Given the description of an element on the screen output the (x, y) to click on. 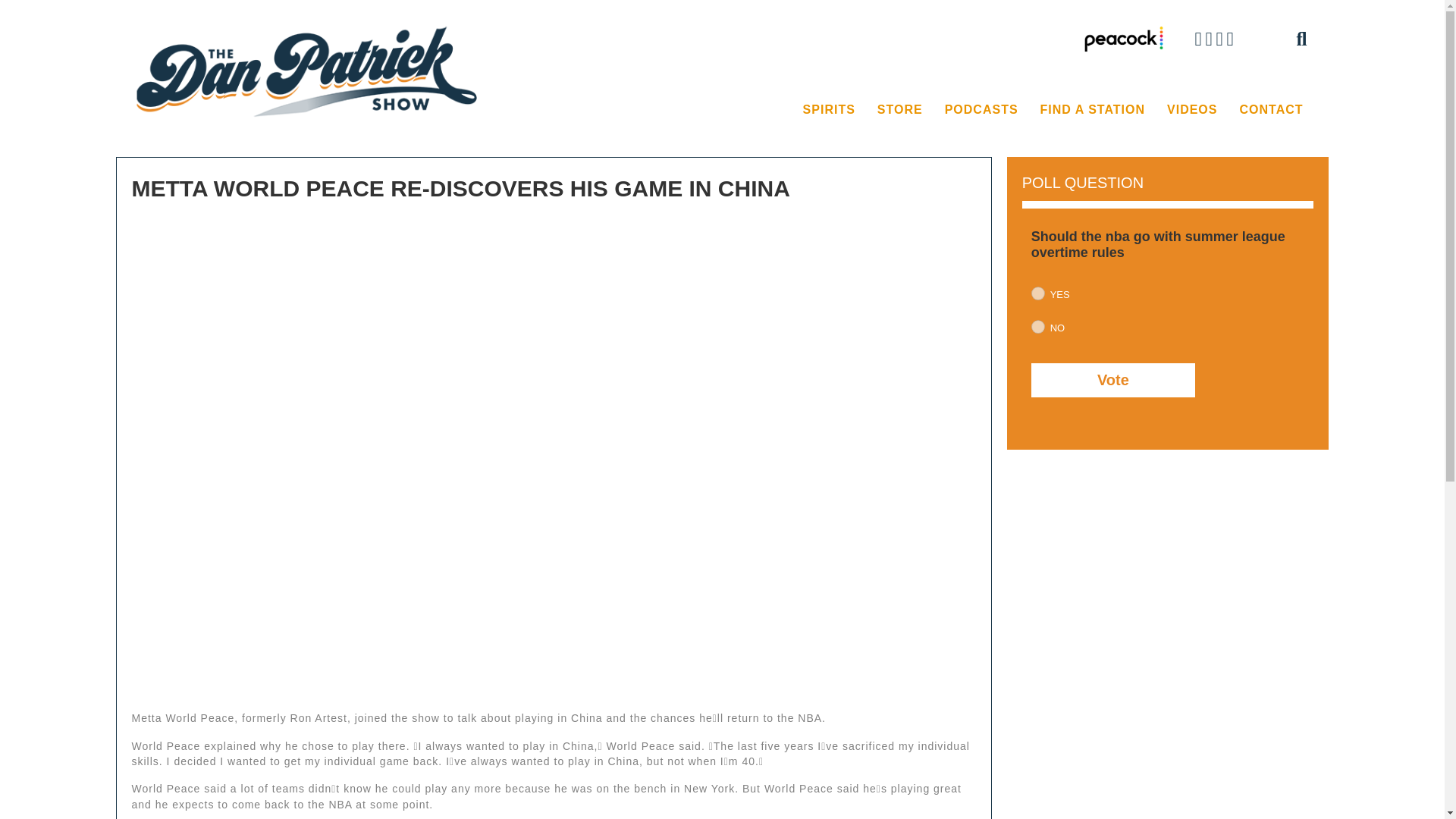
CONTACT (1270, 109)
STORE (899, 109)
SPIRITS (829, 109)
FIND A STATION (1092, 109)
62847531 (1037, 326)
logo (309, 70)
62847530 (1037, 293)
VIDEOS (1191, 109)
Vote (1112, 380)
PODCASTS (981, 109)
